Given the description of an element on the screen output the (x, y) to click on. 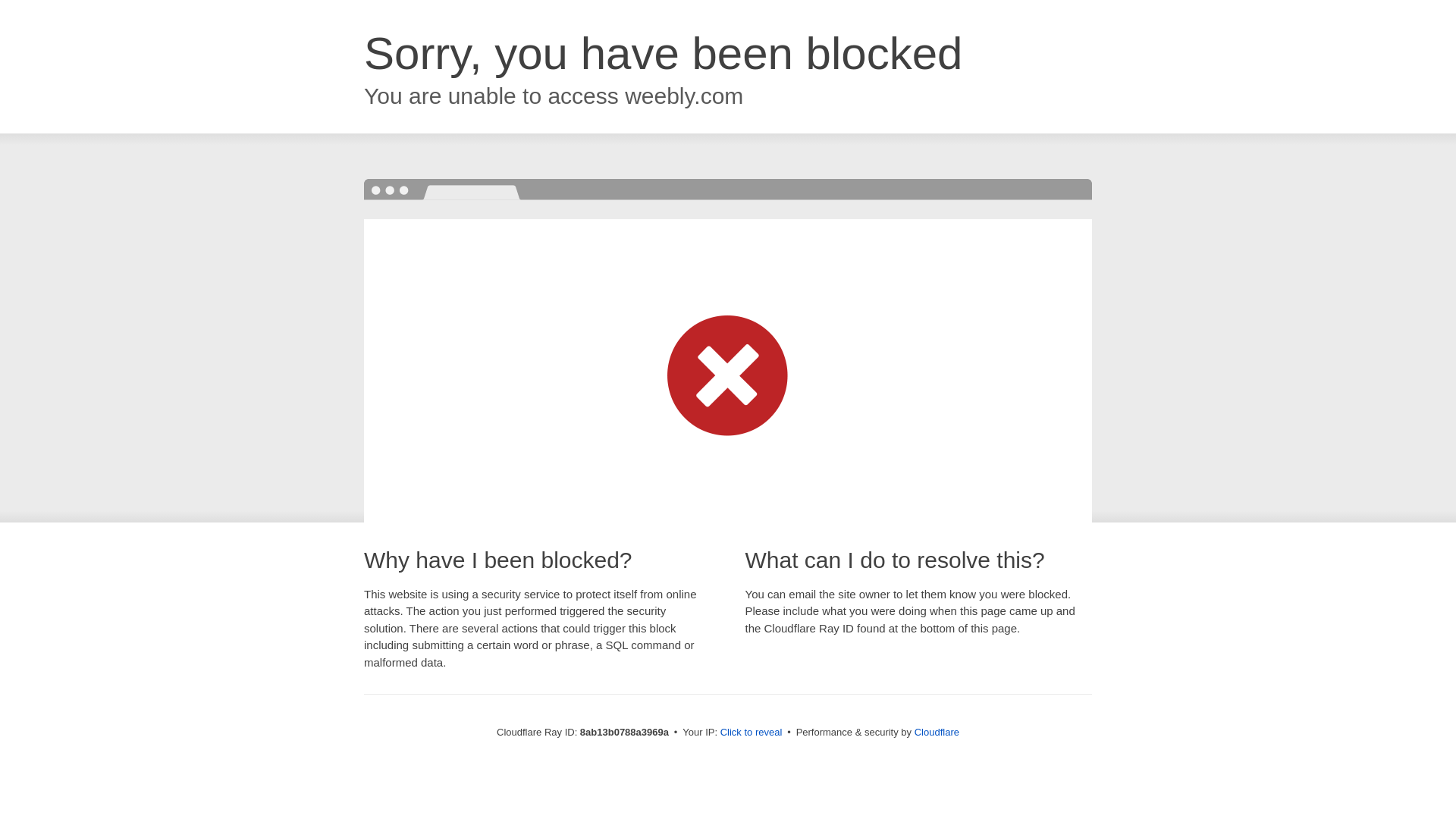
Cloudflare (936, 731)
Click to reveal (751, 732)
